Given the description of an element on the screen output the (x, y) to click on. 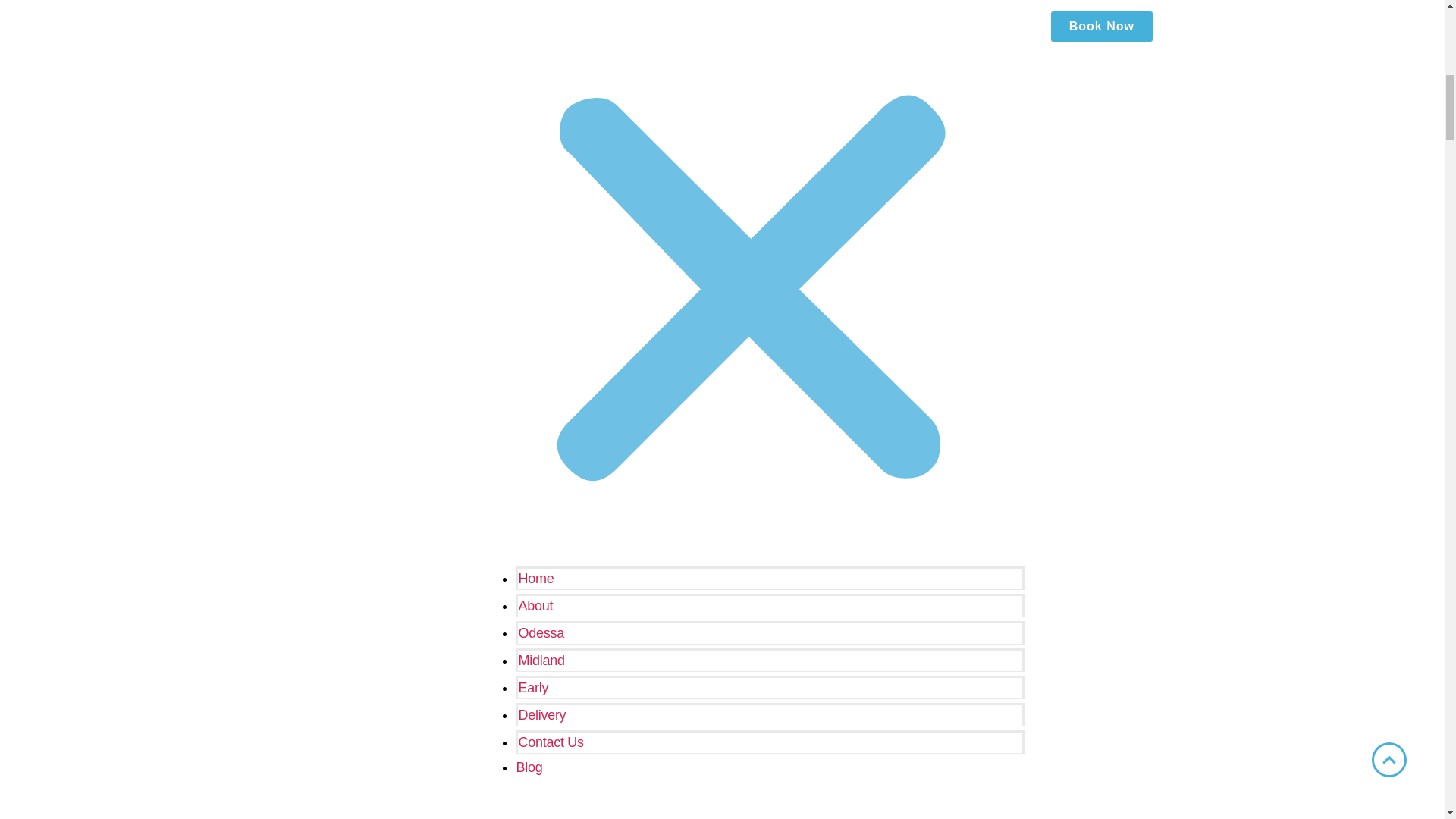
Midland (541, 660)
Home (535, 578)
Blog (528, 767)
Delivery (542, 714)
Book Now (1102, 26)
Contact Us (550, 742)
Early (533, 687)
Odessa (540, 632)
About (535, 605)
